Given the description of an element on the screen output the (x, y) to click on. 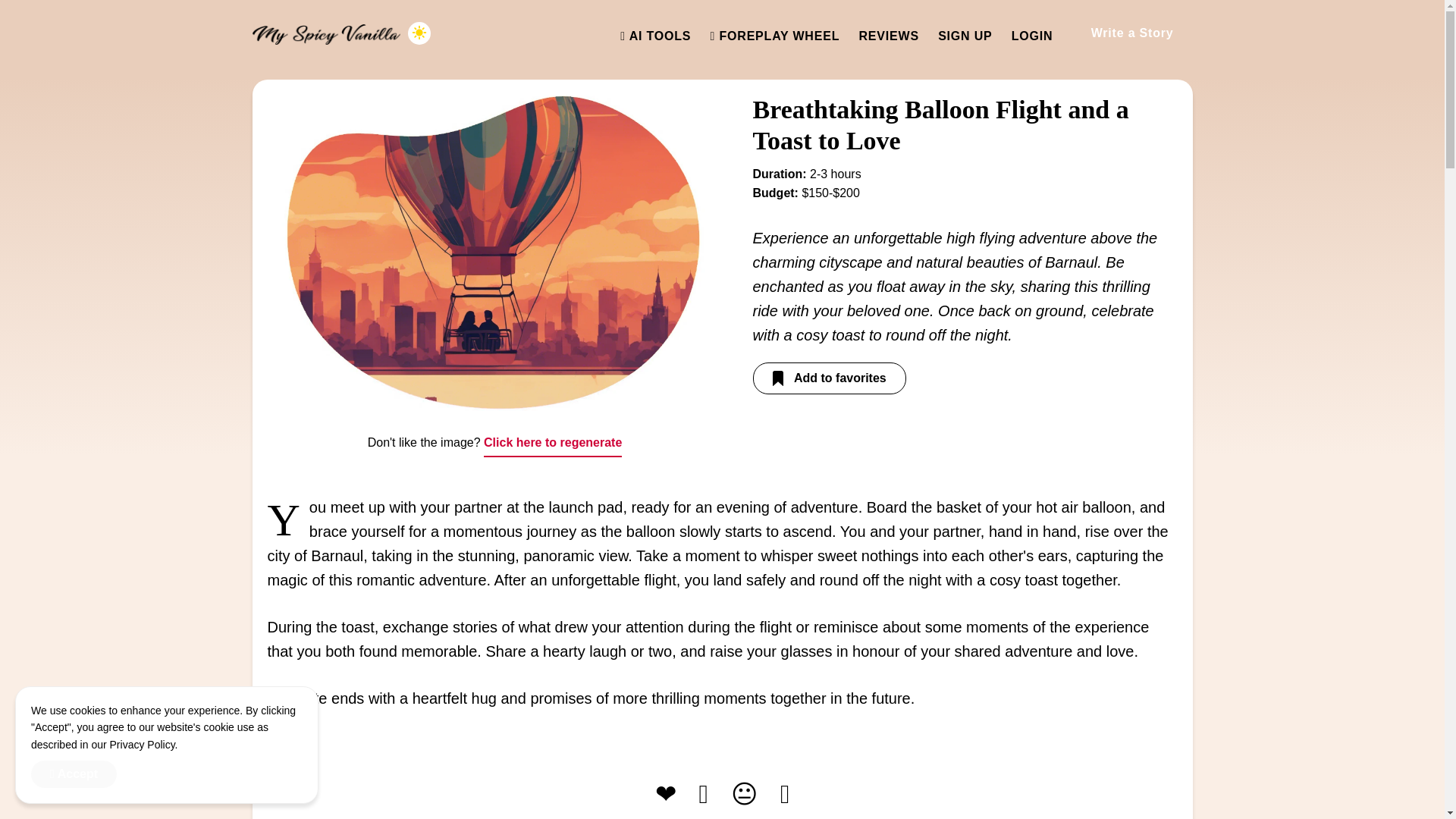
Click here to regenerate (552, 443)
SIGN UP (964, 35)
Add to favorites (828, 377)
REVIEWS (888, 35)
LOGIN (1031, 35)
Write a Story (1131, 32)
